Given the description of an element on the screen output the (x, y) to click on. 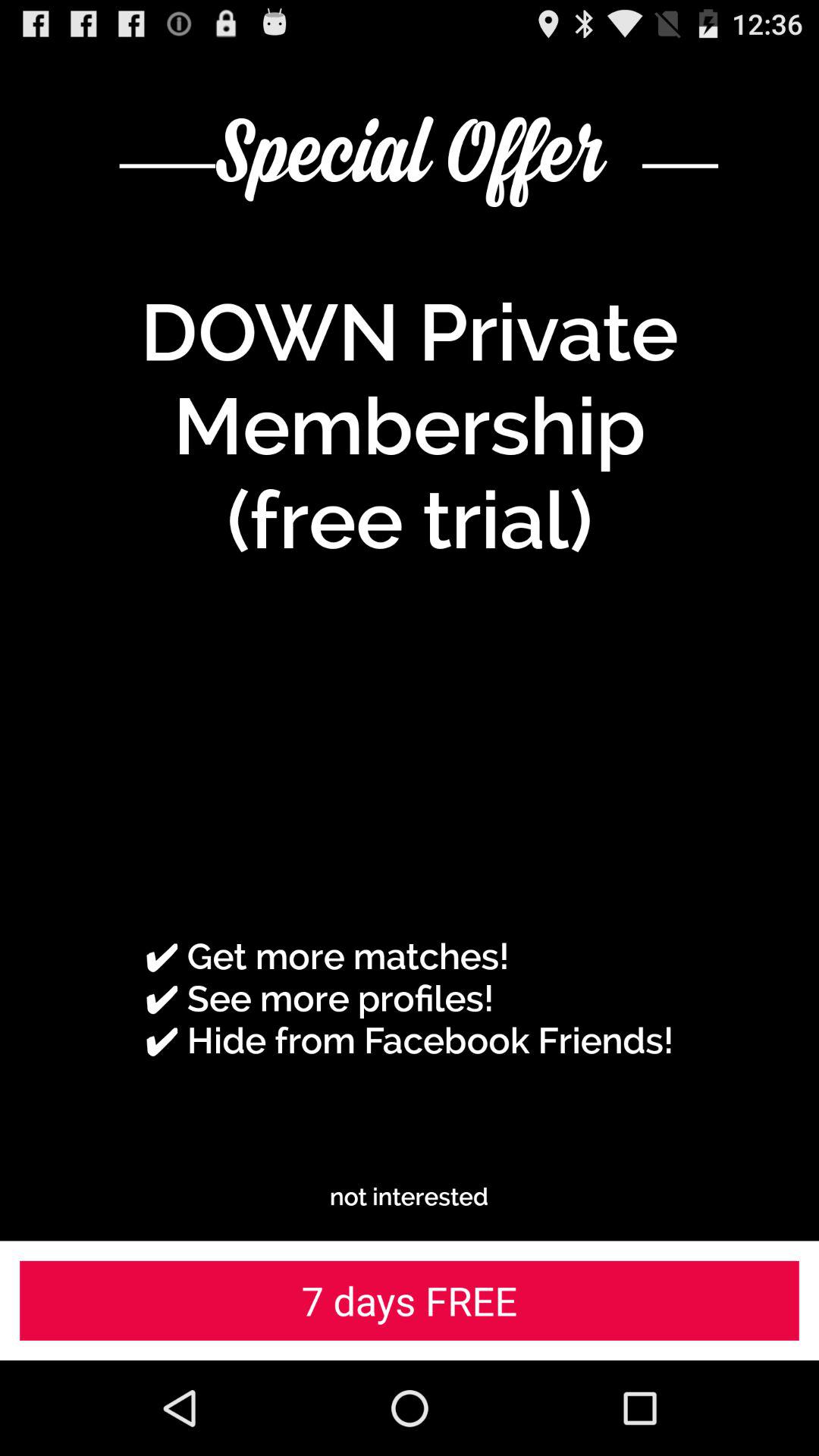
jump to not interested icon (408, 1196)
